Given the description of an element on the screen output the (x, y) to click on. 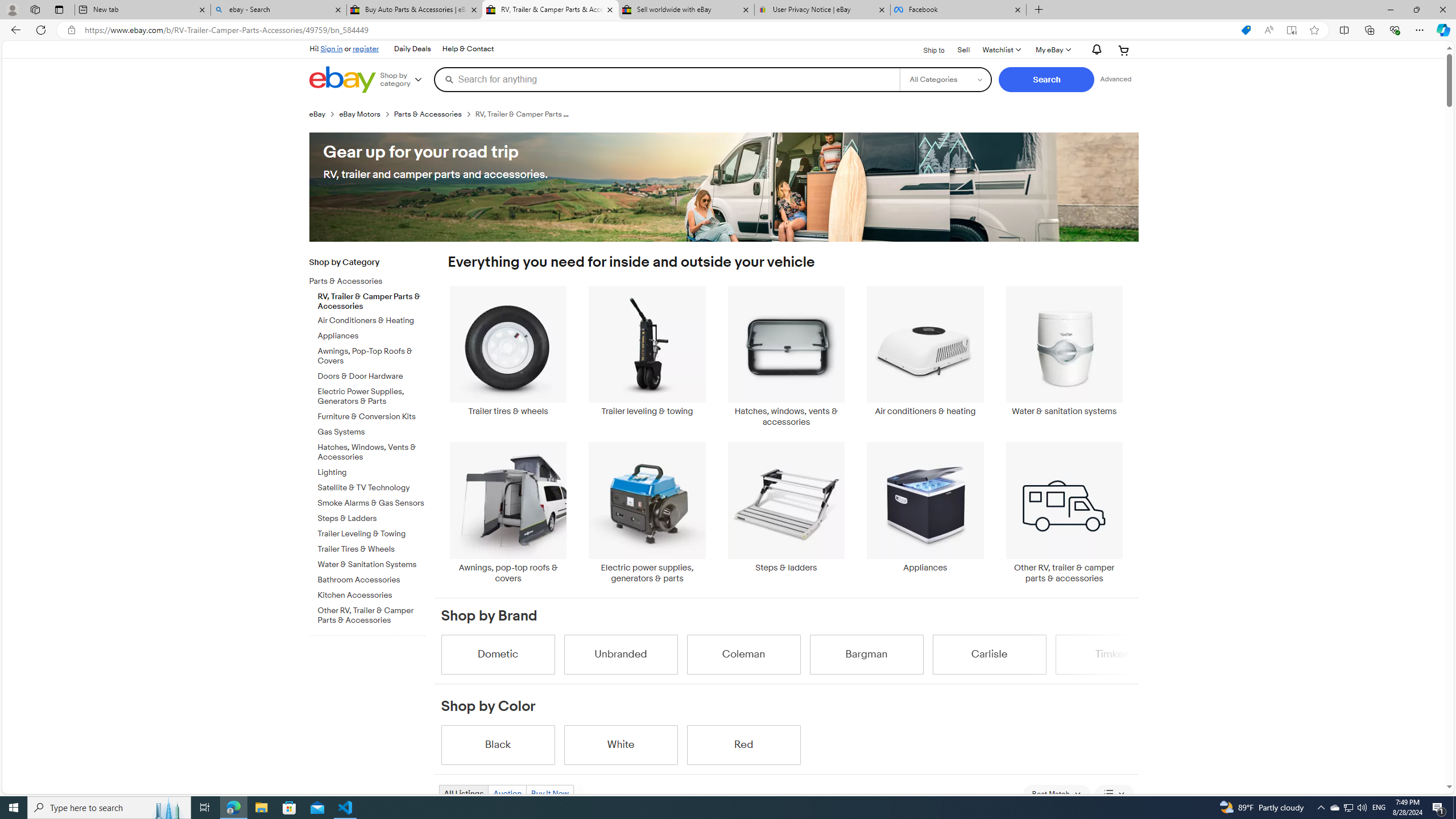
Water & sanitation systems (1064, 351)
Coleman (742, 653)
Furniture & Conversion Kits (371, 416)
Trailer Leveling & Towing (371, 534)
Coleman (742, 653)
Help & Contact (467, 49)
Carlisle (988, 653)
